Given the description of an element on the screen output the (x, y) to click on. 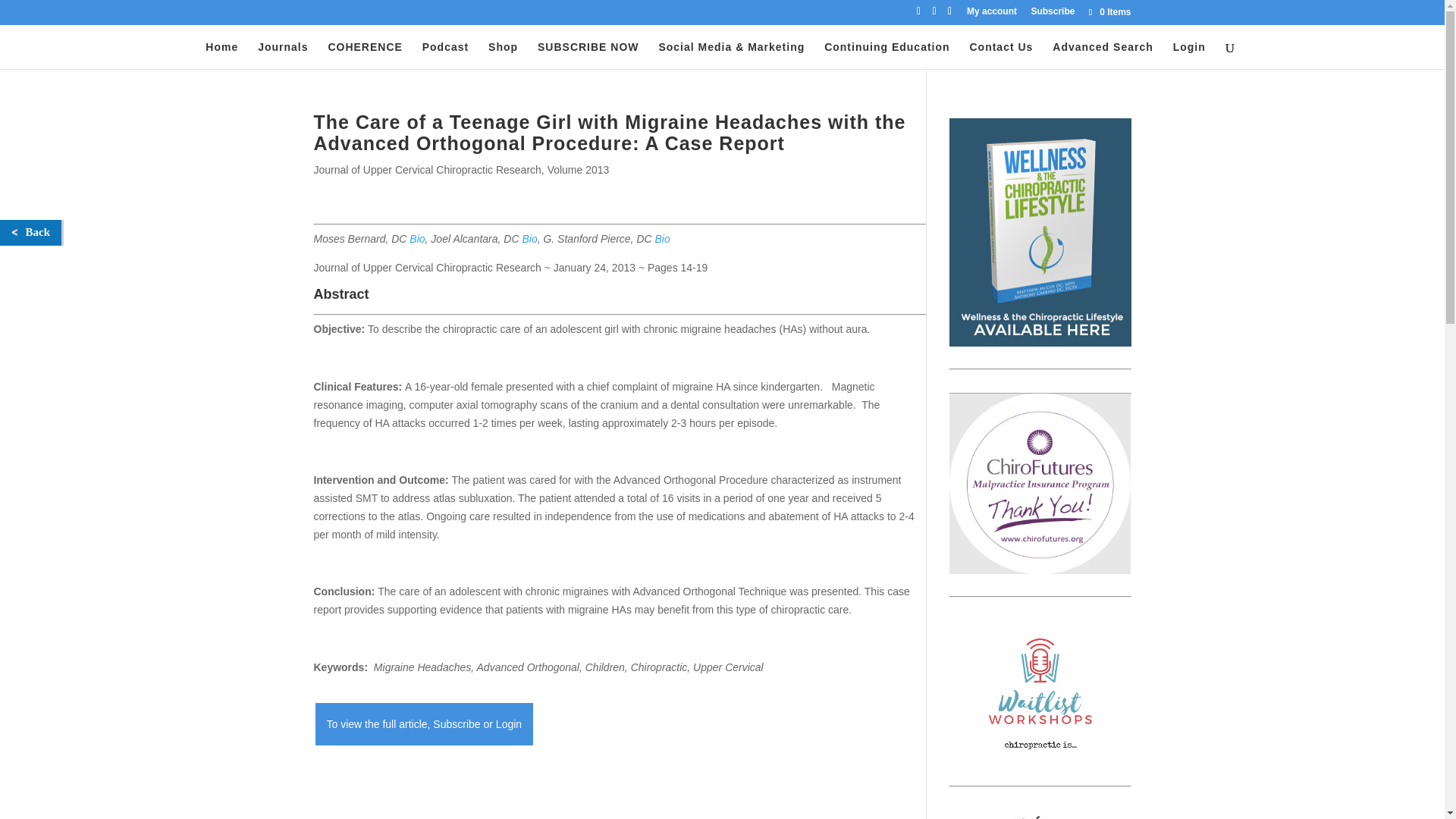
Advanced Search (1102, 53)
Podcast (445, 53)
My account (991, 14)
Contact Us (1000, 53)
Subscribe (1052, 14)
SUBSCRIBE NOW (588, 53)
Login (1189, 53)
Continuing Education (886, 53)
Back (30, 232)
0 Items (1108, 11)
Journals (282, 53)
COHERENCE (364, 53)
Shop (502, 53)
Home (221, 53)
